Given the description of an element on the screen output the (x, y) to click on. 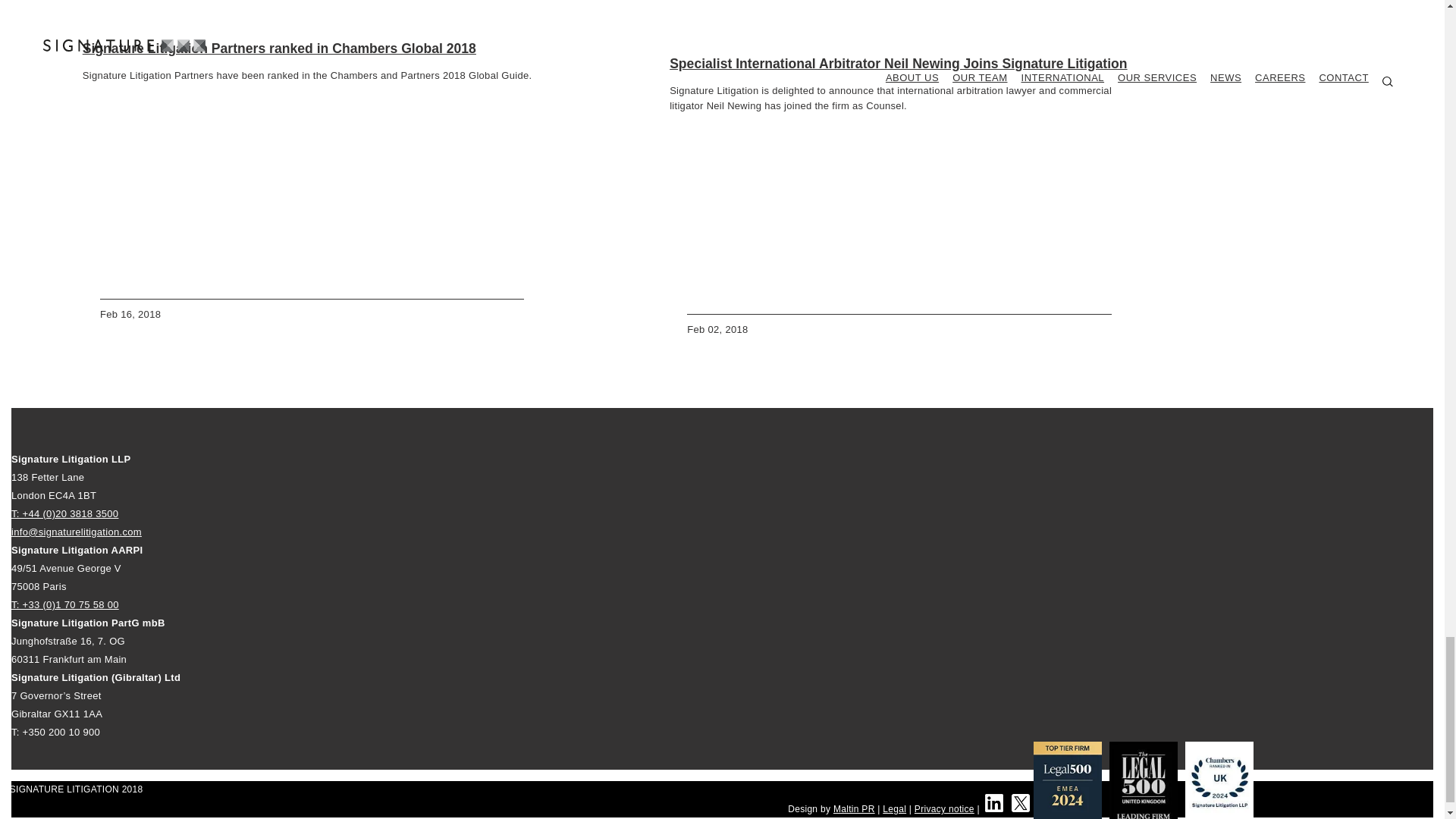
Twitter (1020, 802)
LinkedIn (994, 802)
